Given the description of an element on the screen output the (x, y) to click on. 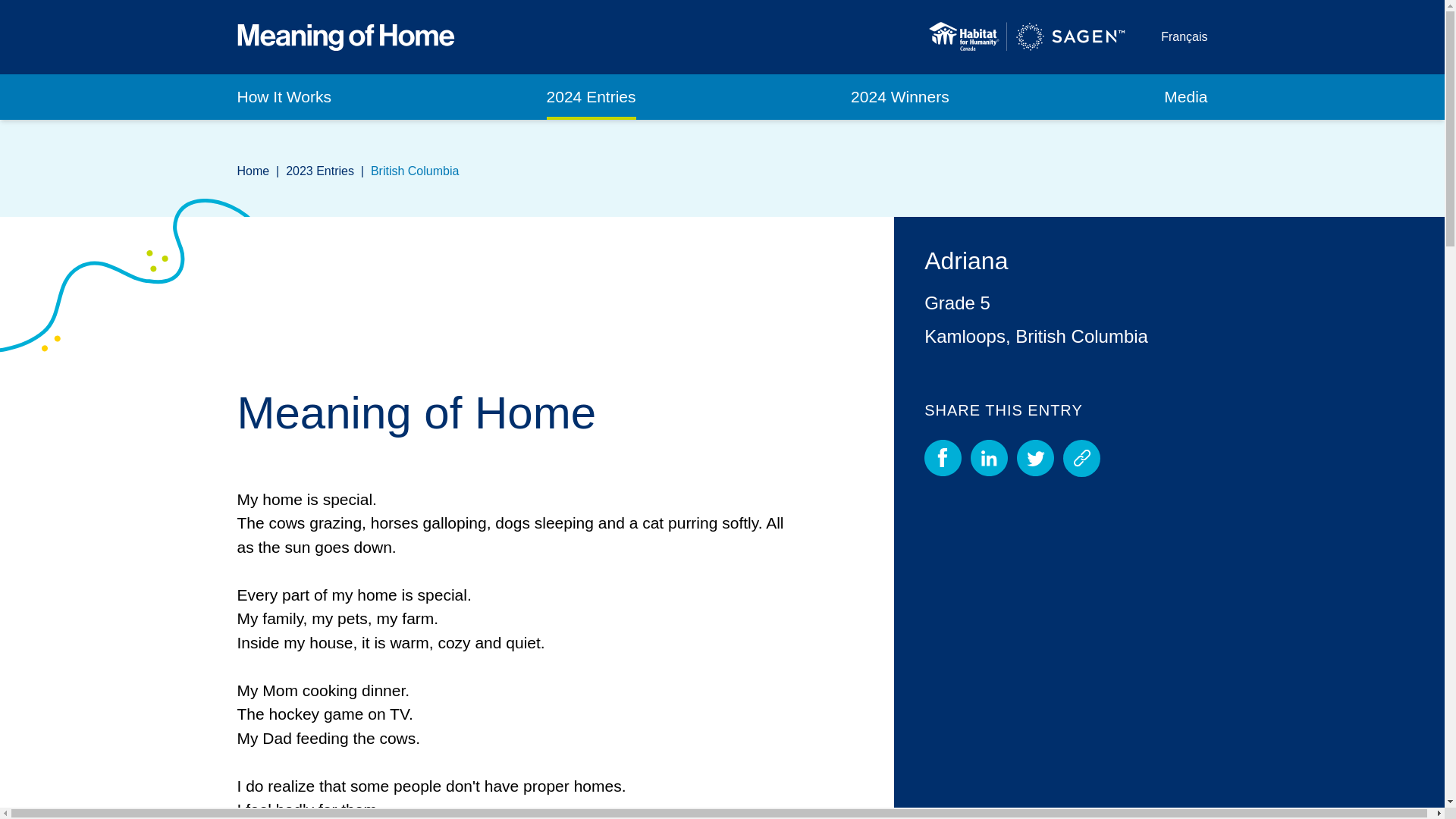
Media (1185, 96)
British Columbia (414, 169)
2024 Winners (899, 96)
2024 Entries (591, 96)
2023 Entries (319, 169)
Home (252, 169)
How It Works (282, 96)
